Given the description of an element on the screen output the (x, y) to click on. 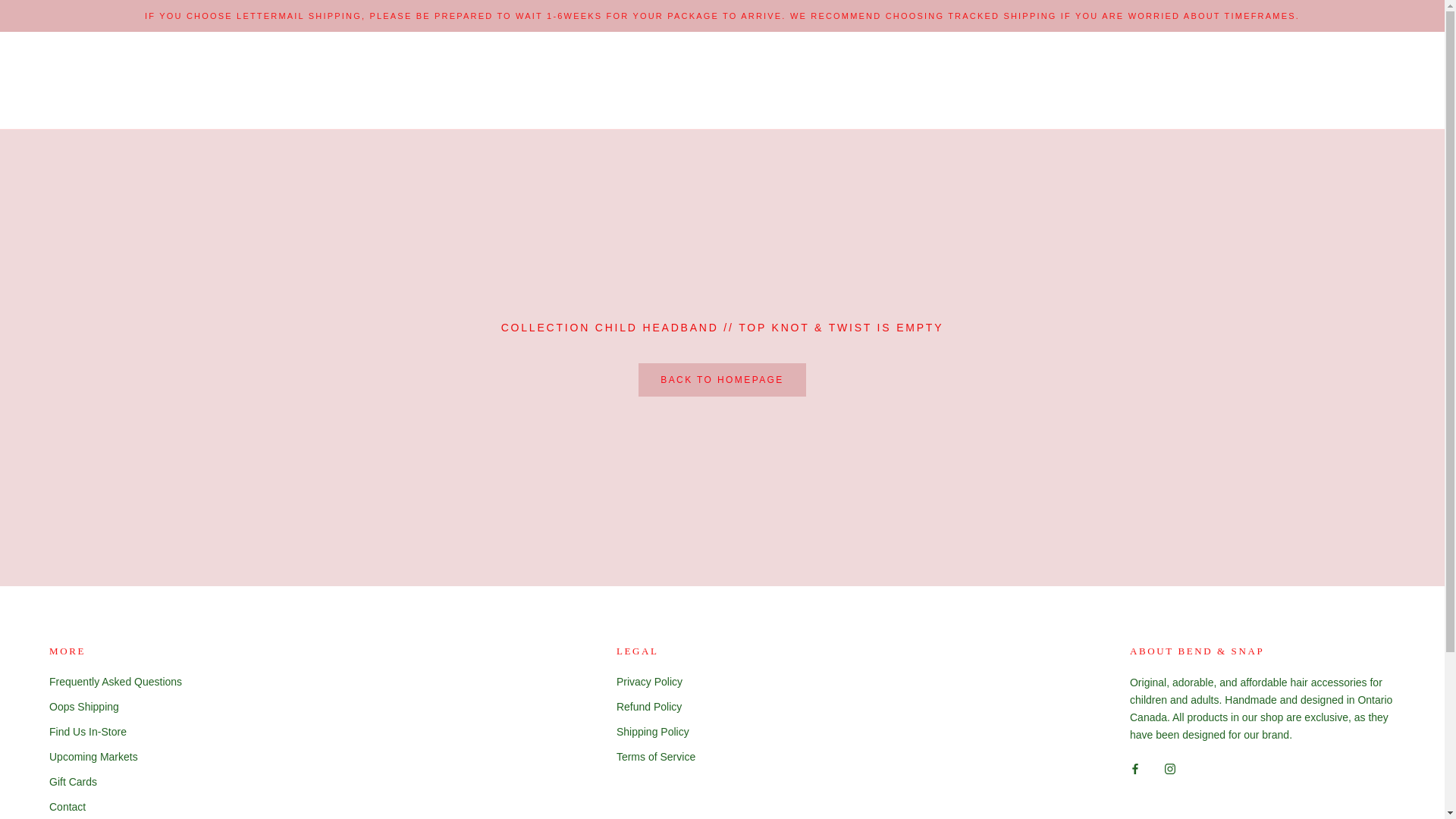
Oops Shipping Element type: text (115, 707)
Shipping Policy Element type: text (655, 732)
Gift Cards Element type: text (115, 782)
Frequently Asked Questions Element type: text (115, 682)
Upcoming Markets Element type: text (115, 757)
Find Us In-Store Element type: text (115, 732)
Contact Element type: text (115, 807)
Refund Policy Element type: text (655, 707)
Privacy Policy Element type: text (655, 682)
Terms of Service Element type: text (655, 757)
BACK TO HOMEPAGE Element type: text (721, 379)
